Given the description of an element on the screen output the (x, y) to click on. 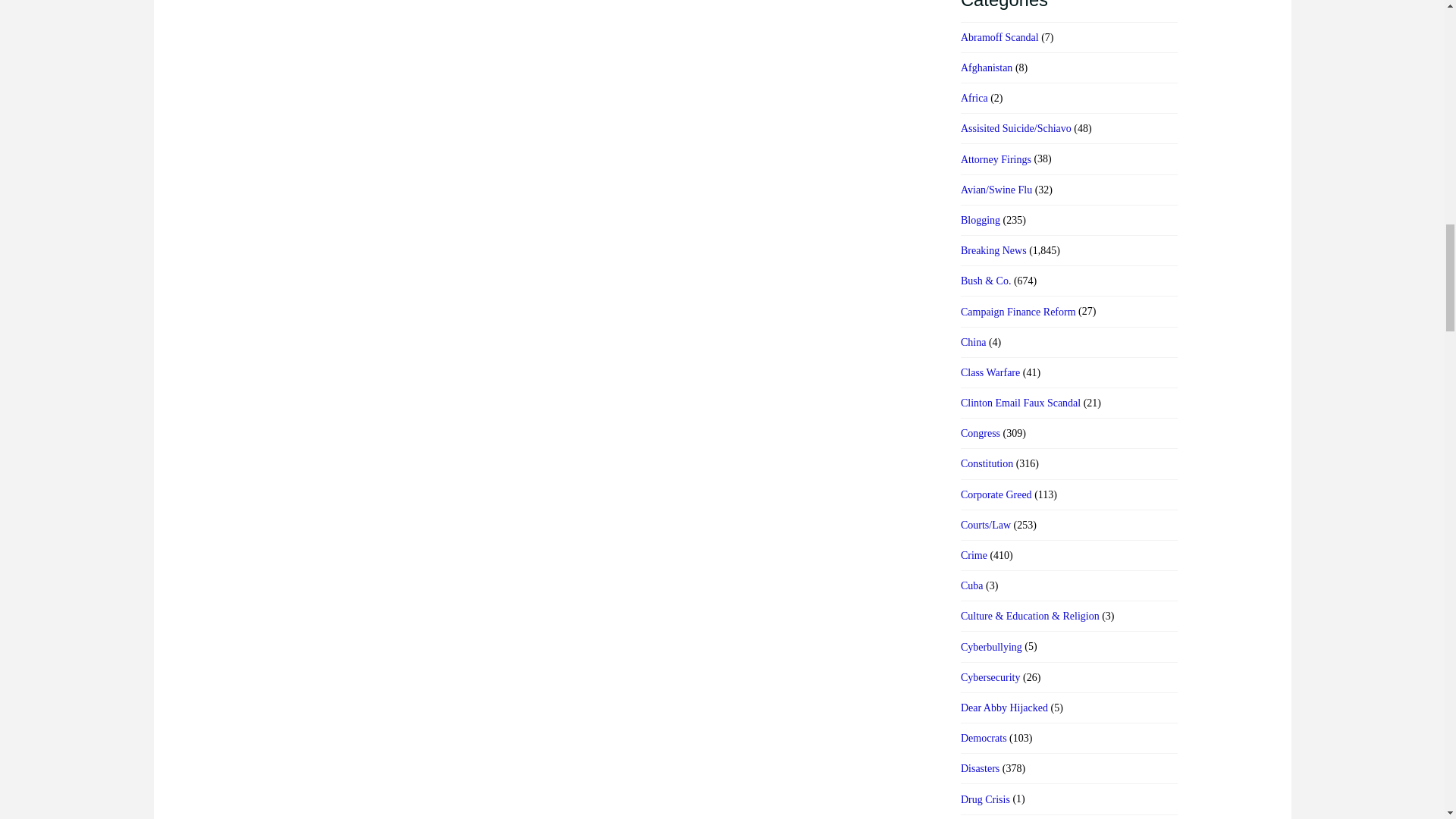
Breaking News (993, 250)
China (972, 342)
Class Warfare (990, 372)
Constitution (986, 463)
Crime (973, 555)
Cuba (972, 585)
Clinton Email Faux Scandal (1020, 402)
Afghanistan (985, 67)
Africa (974, 98)
Cybersecurity (990, 677)
Abramoff Scandal (999, 37)
Corporate Greed (996, 494)
Campaign Finance Reform (1017, 311)
Blogging (980, 220)
Dear Abby Hijacked (1004, 707)
